Given the description of an element on the screen output the (x, y) to click on. 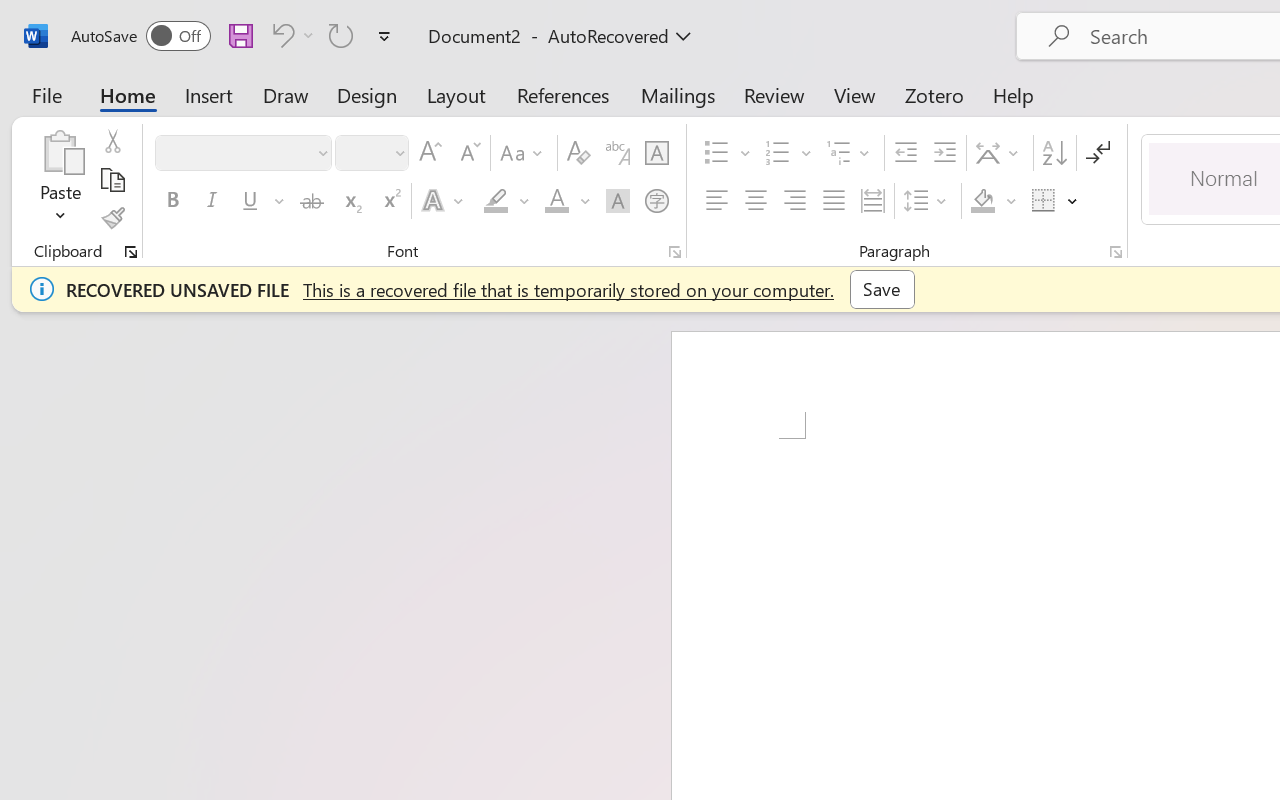
Asian Layout (1000, 153)
Clear Formatting (578, 153)
Italic (212, 201)
Bold (172, 201)
Cut (112, 141)
Text Highlight Color (506, 201)
Shrink Font (468, 153)
Increase Indent (944, 153)
Character Shading (618, 201)
